Given the description of an element on the screen output the (x, y) to click on. 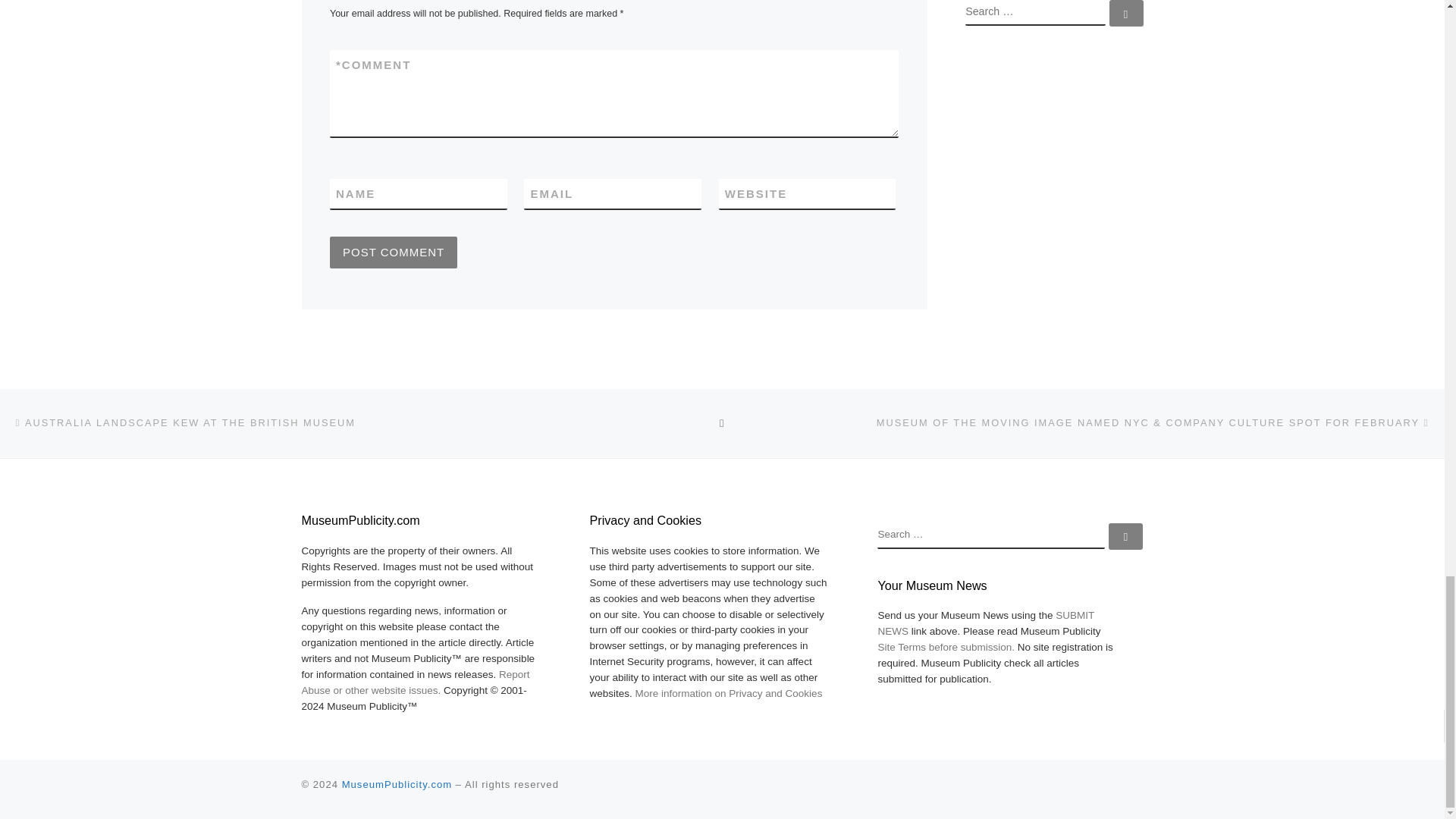
AUSTRALIA LANDSCAPE KEW AT THE BRITISH MUSEUM (183, 422)
MuseumPublicity.com (397, 784)
Post Comment (393, 252)
Post Comment (393, 252)
